Given the description of an element on the screen output the (x, y) to click on. 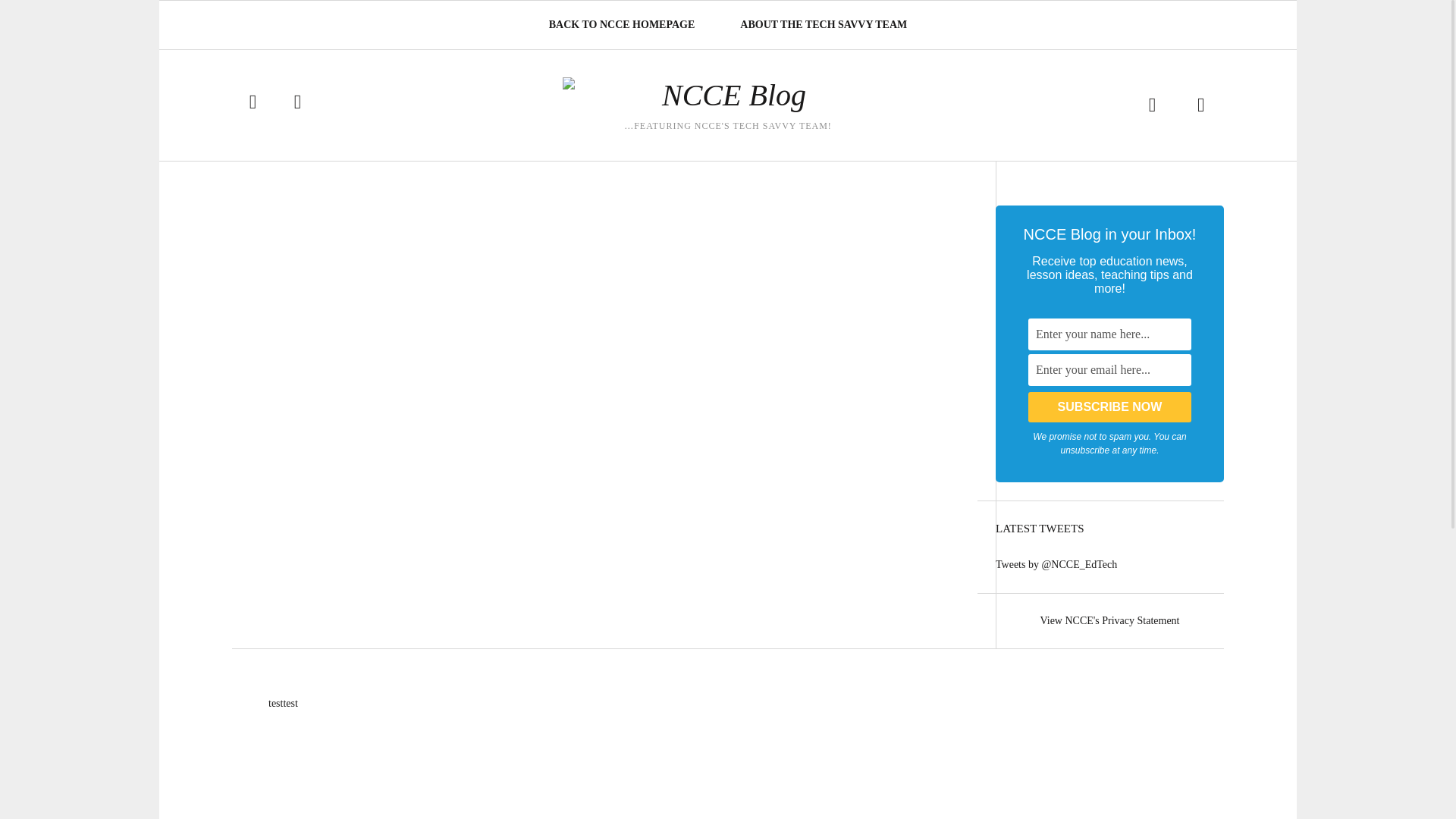
Subscribe Now (1109, 407)
